Given the description of an element on the screen output the (x, y) to click on. 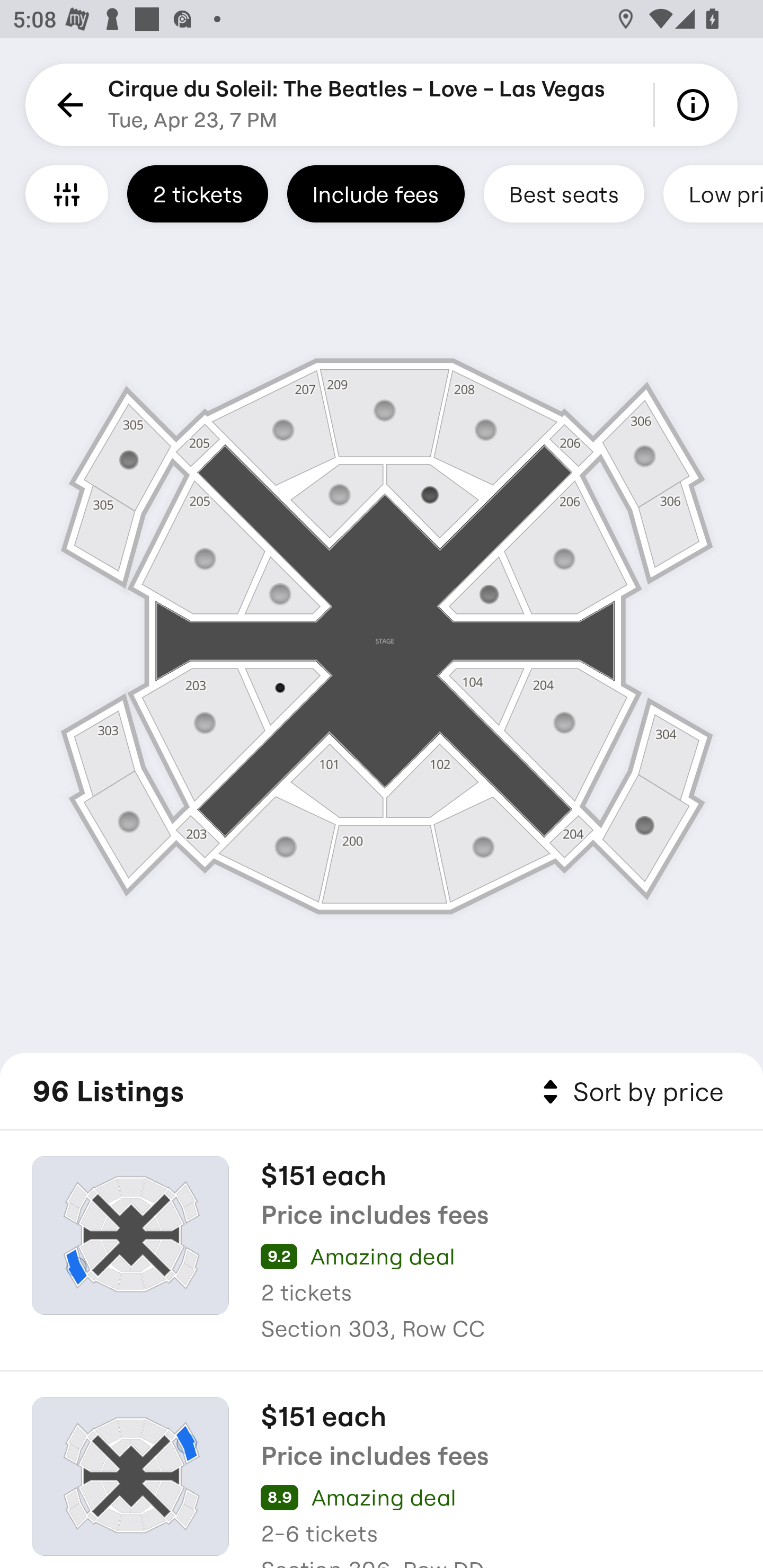
Back (66, 104)
Info (695, 104)
Filters and Accessible Seating (66, 193)
2 tickets (197, 193)
Include fees (375, 193)
Best seats (563, 193)
Low prices (713, 193)
Sort by price (629, 1091)
